Given the description of an element on the screen output the (x, y) to click on. 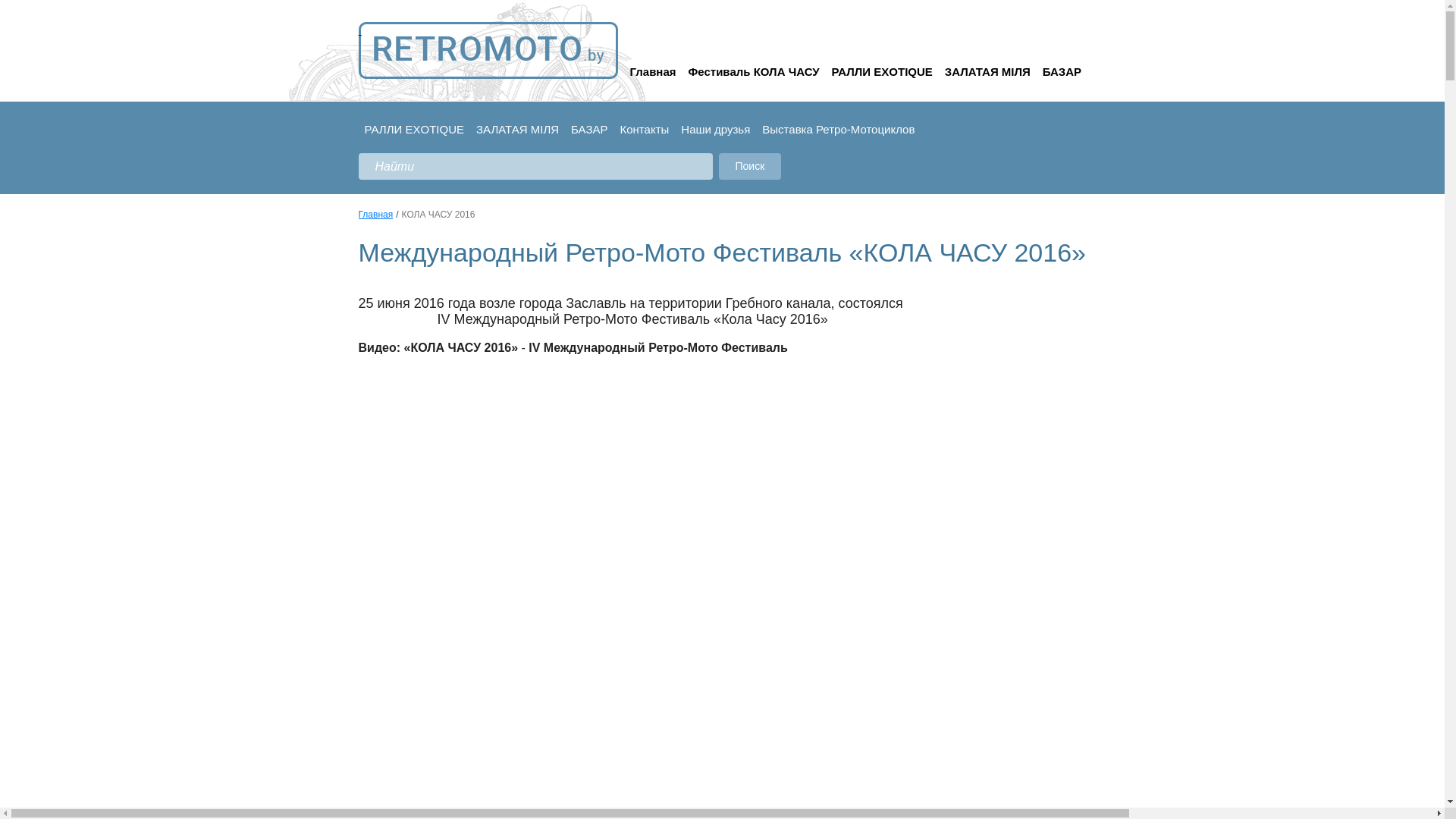
  Element type: text (487, 49)
